Given the description of an element on the screen output the (x, y) to click on. 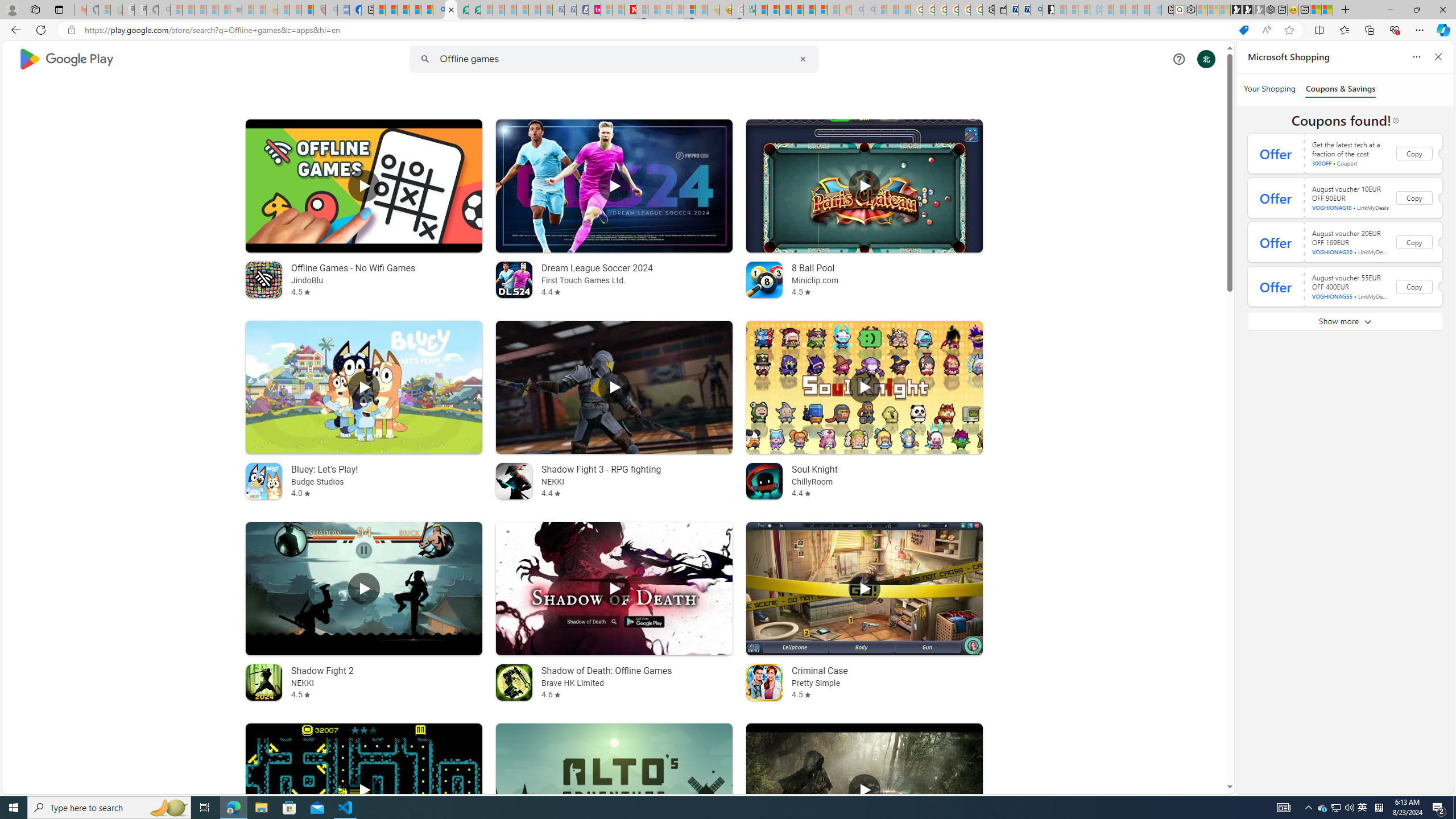
Play 8 Ball Pool (864, 185)
New Tab (1346, 9)
Close (1442, 9)
14 Common Myths Debunked By Scientific Facts - Sleeping (654, 9)
Local - MSN (307, 9)
list of asthma inhalers uk - Search - Sleeping (331, 9)
Bing Real Estate - Home sales and rental listings (1035, 9)
Cheap Car Rentals - Save70.com - Sleeping (558, 9)
